Given the description of an element on the screen output the (x, y) to click on. 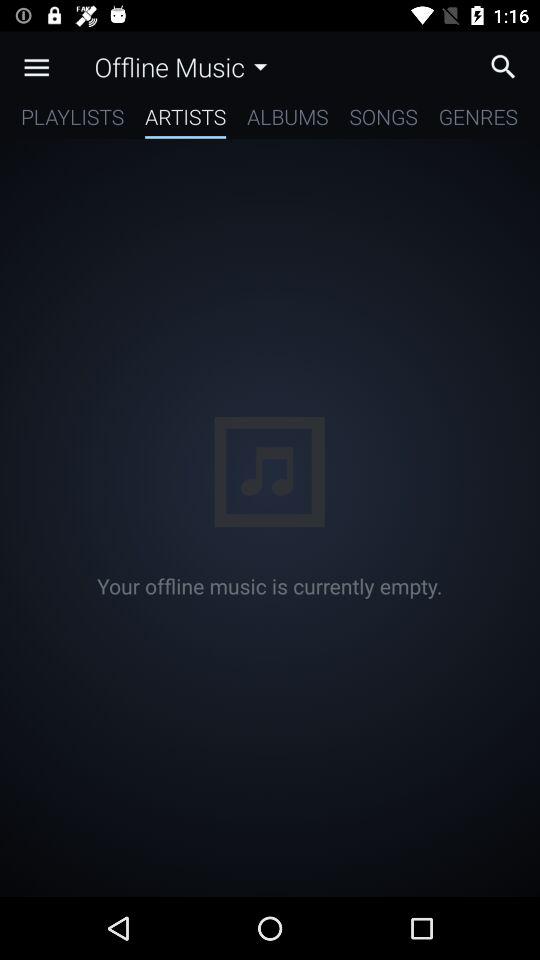
flip to the albums app (287, 120)
